Given the description of an element on the screen output the (x, y) to click on. 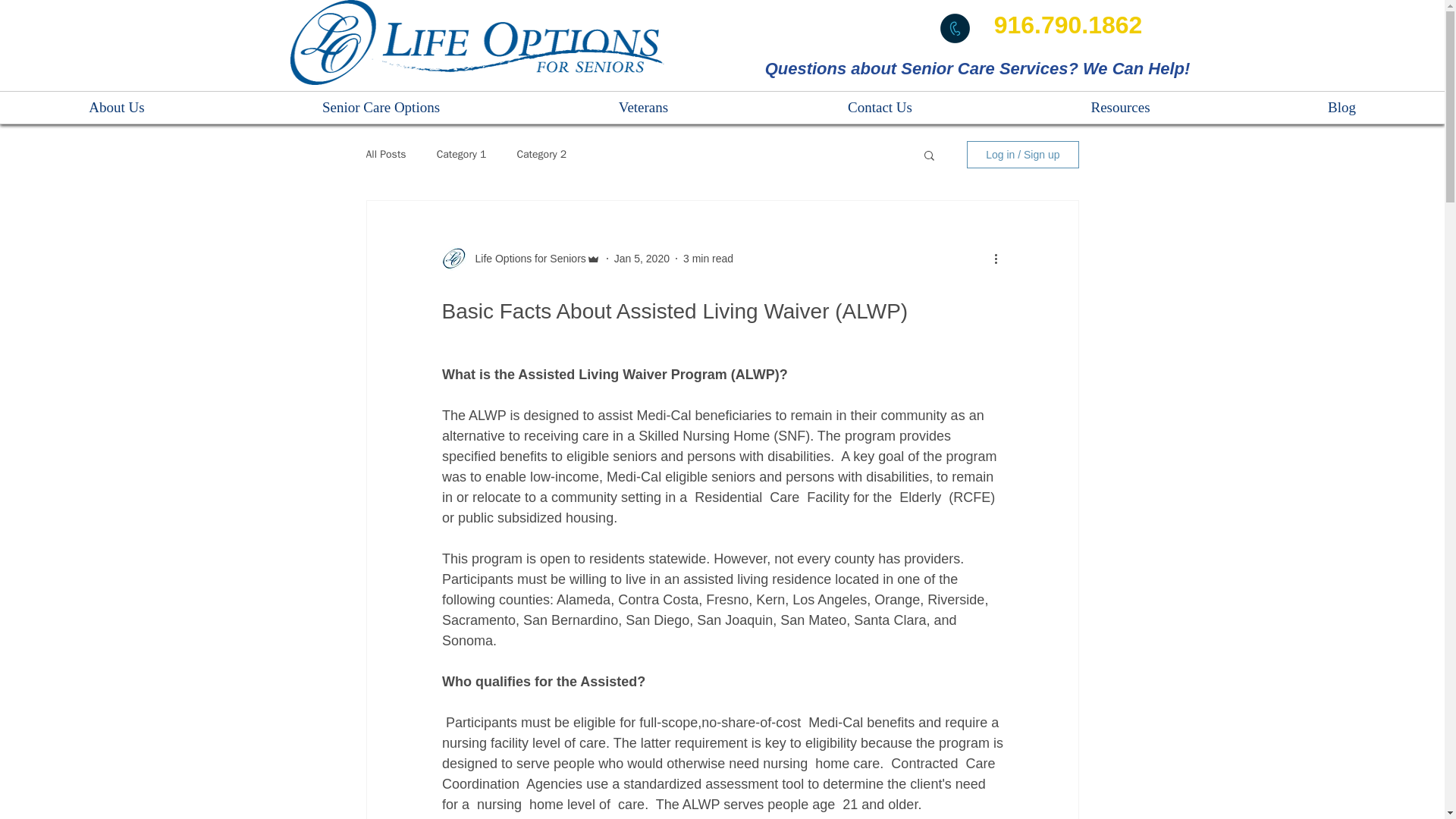
Category 2 (541, 154)
3 min read (707, 257)
Veterans (643, 107)
Resources (1120, 107)
Jan 5, 2020 (641, 257)
Life Options for Seniors (525, 258)
916.790.1862 (1068, 24)
Category 1 (461, 154)
Senior Care Options (380, 107)
Contact Us (879, 107)
